Given the description of an element on the screen output the (x, y) to click on. 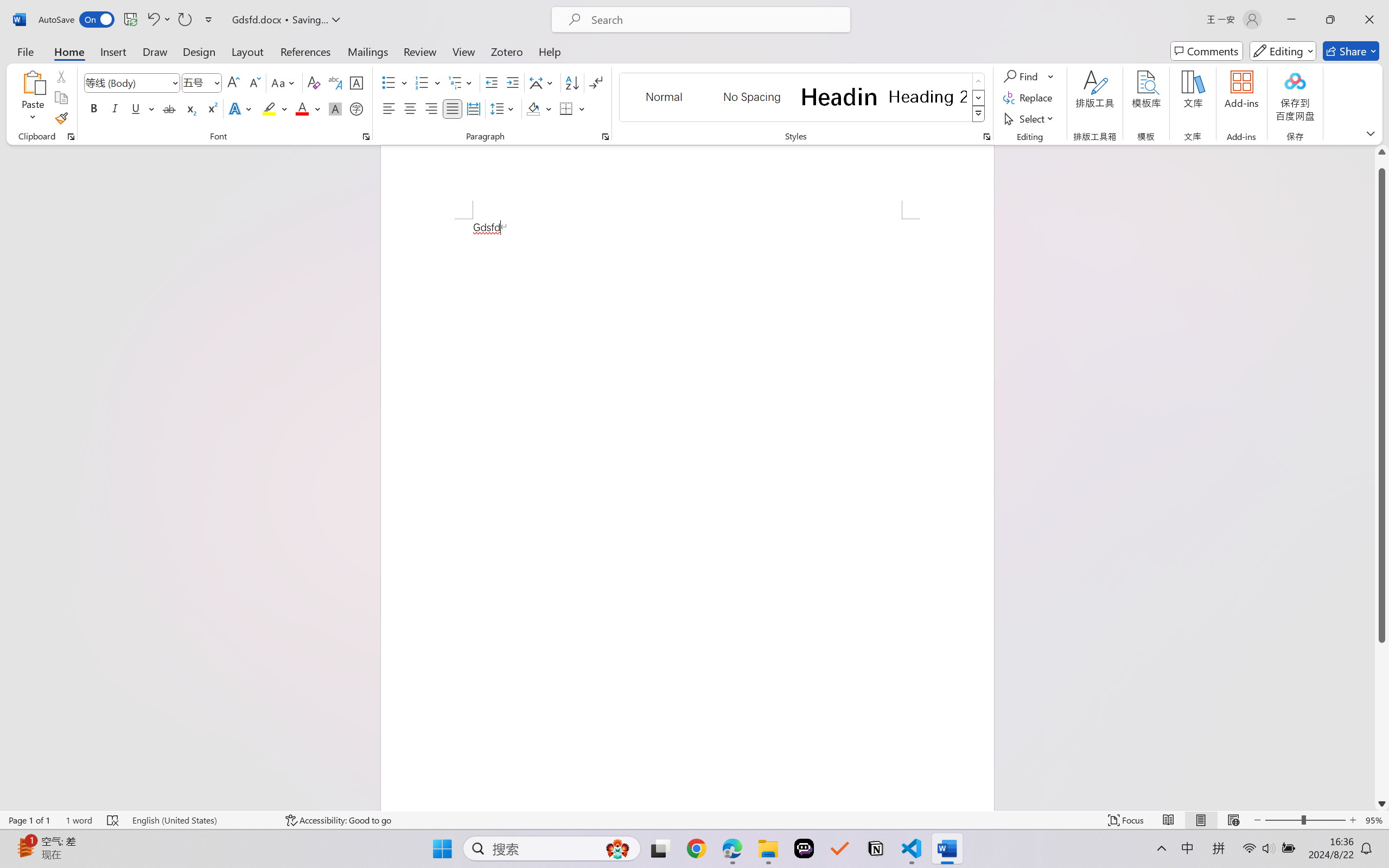
AutomationID: QuickStylesGallery (802, 97)
Increase Indent (512, 82)
Spelling and Grammar Check Errors (113, 819)
Copy (60, 97)
Page up (1382, 163)
Shrink Font (253, 82)
Font Color (308, 108)
